Given the description of an element on the screen output the (x, y) to click on. 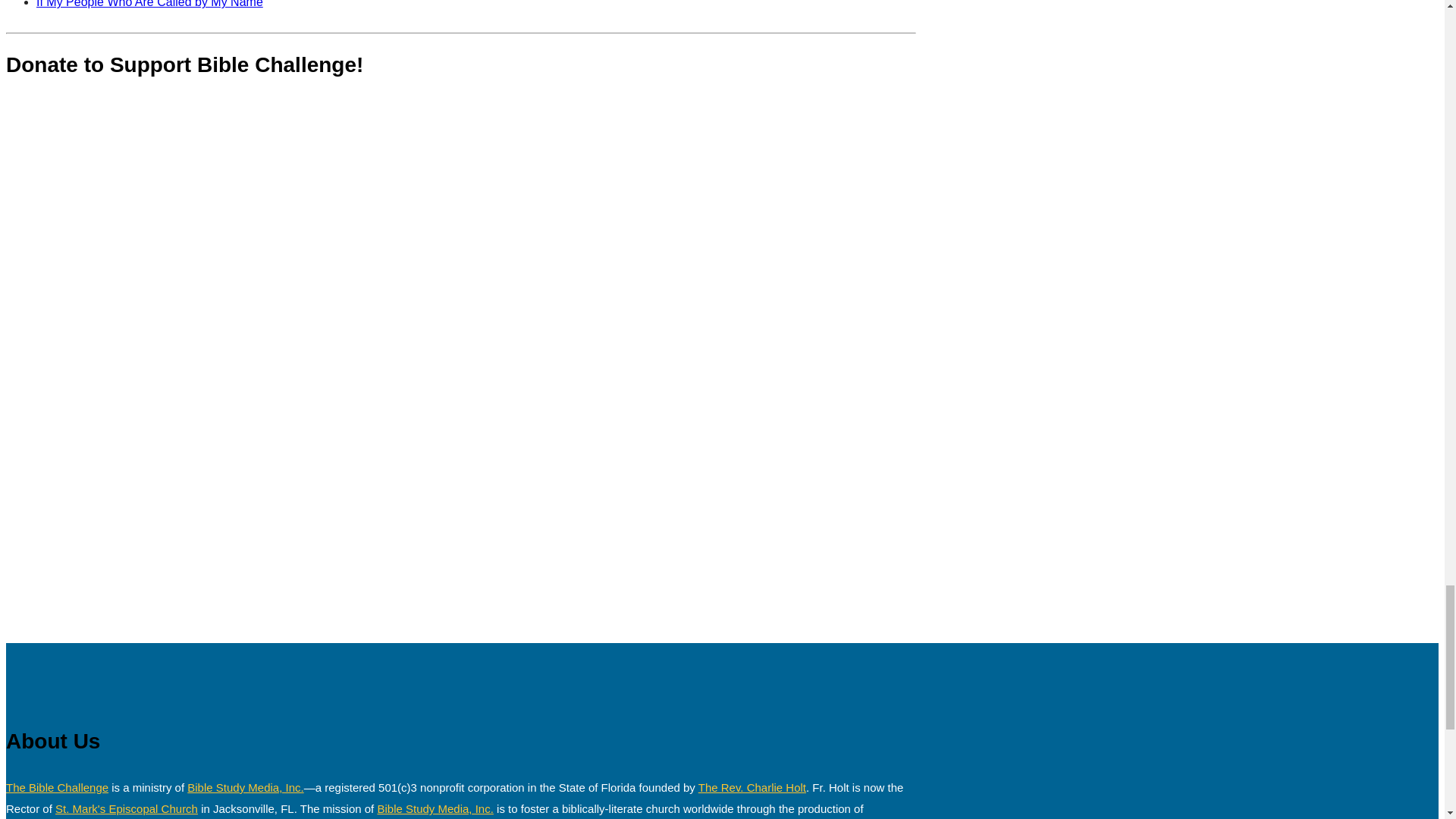
The Bible Challenge (56, 787)
Bible Study Media, Inc. (244, 787)
If My People Who Are Called by My Name (149, 4)
